Given the description of an element on the screen output the (x, y) to click on. 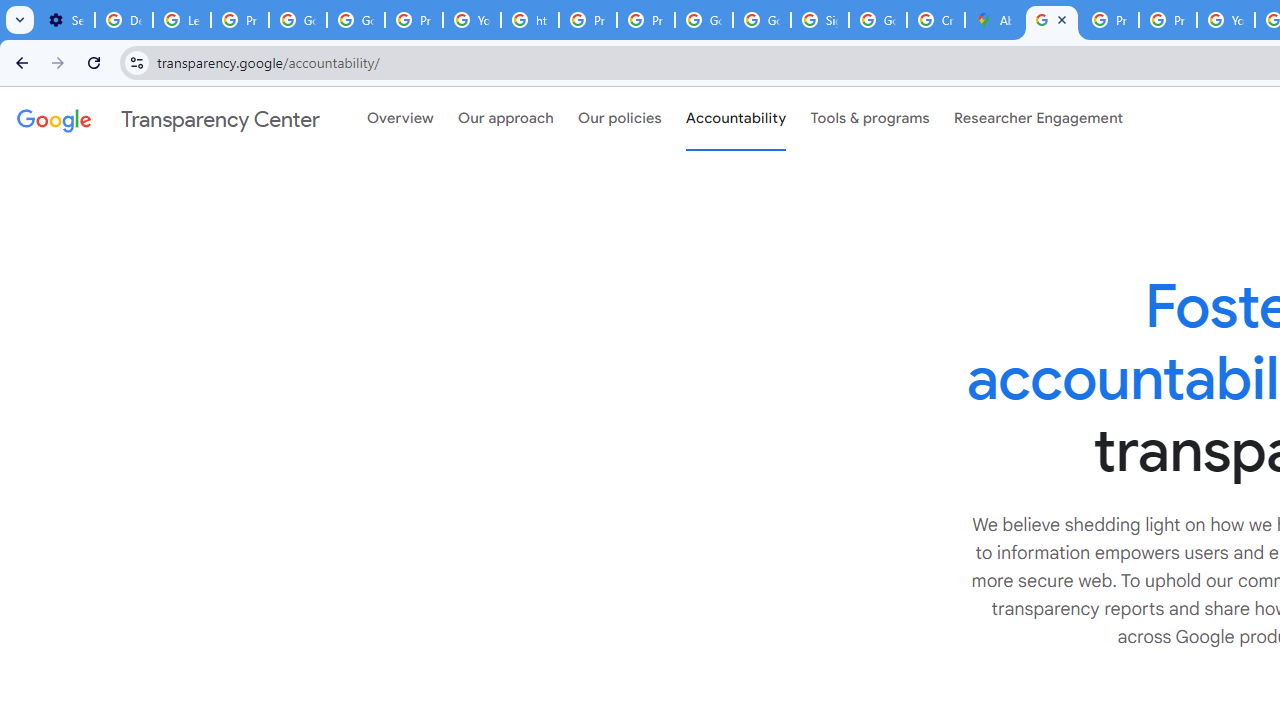
YouTube (1225, 20)
Settings - On startup (65, 20)
Transparency Center (167, 119)
YouTube (471, 20)
Privacy Help Center - Policies Help (1110, 20)
